Given the description of an element on the screen output the (x, y) to click on. 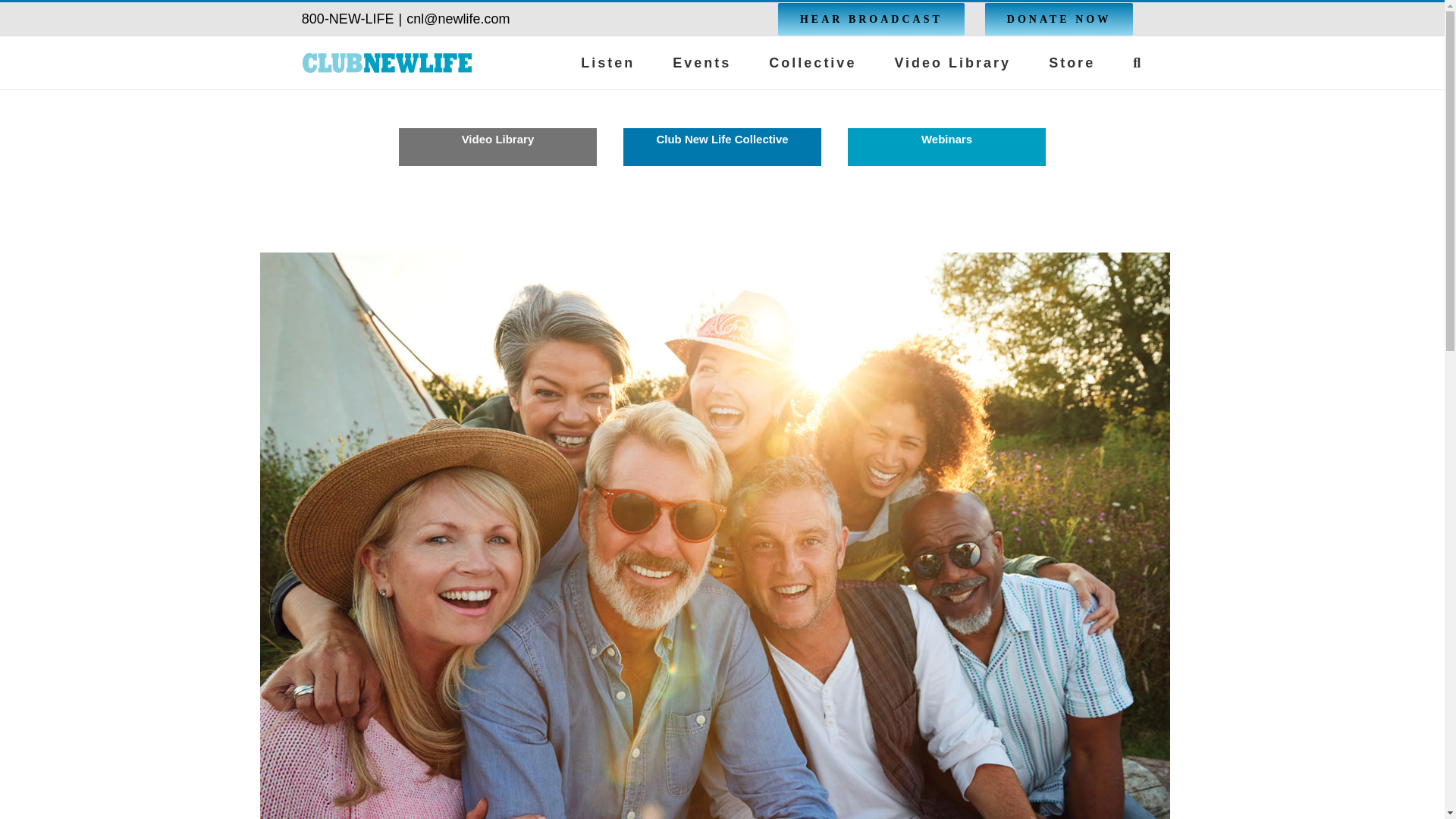
Events (701, 62)
Listen (607, 62)
DONATE NOW (722, 158)
Collective (1058, 19)
Video Library (812, 62)
cnl-family-03-web (951, 62)
